Given the description of an element on the screen output the (x, y) to click on. 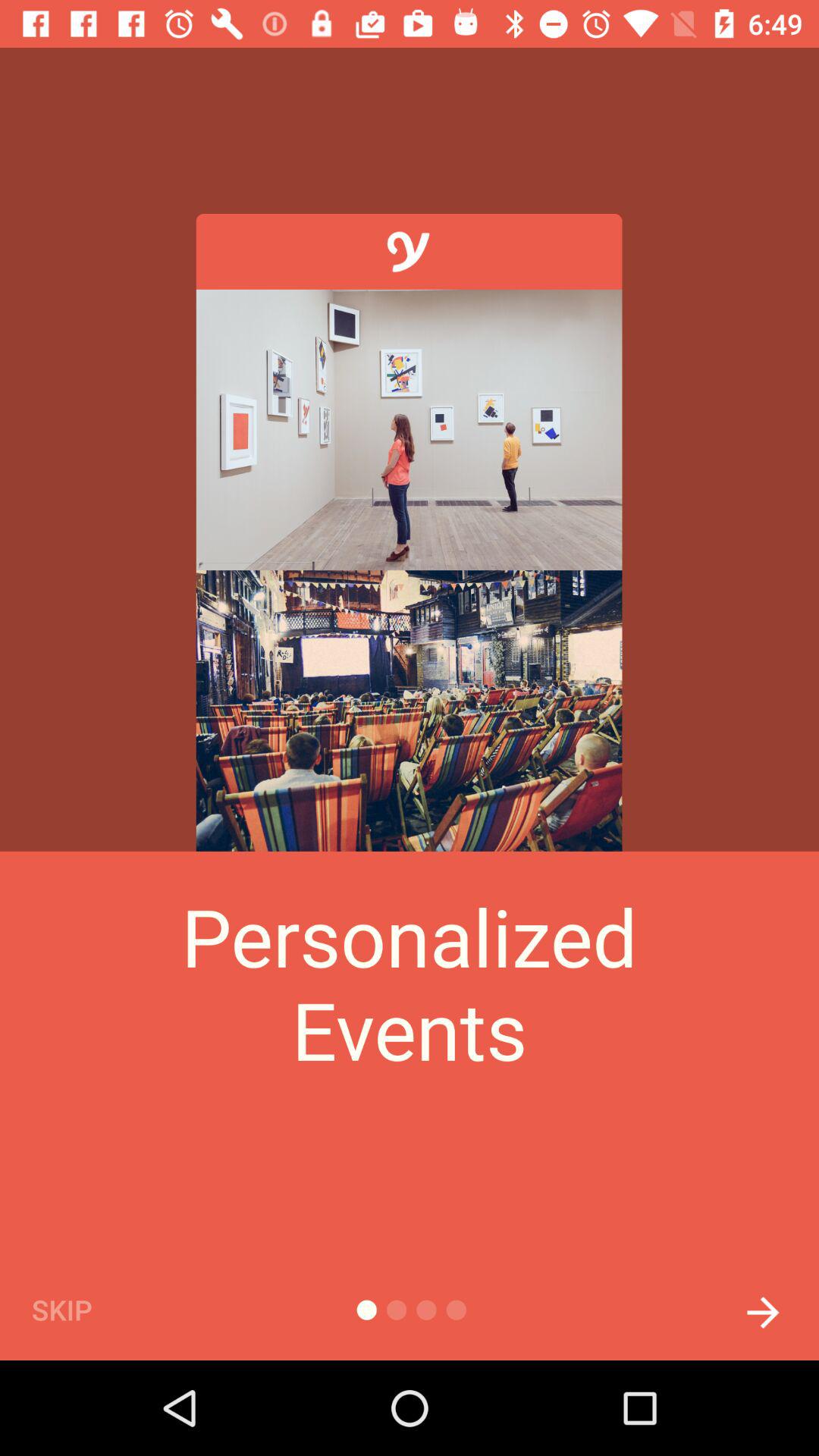
turn off skip icon (87, 1309)
